Given the description of an element on the screen output the (x, y) to click on. 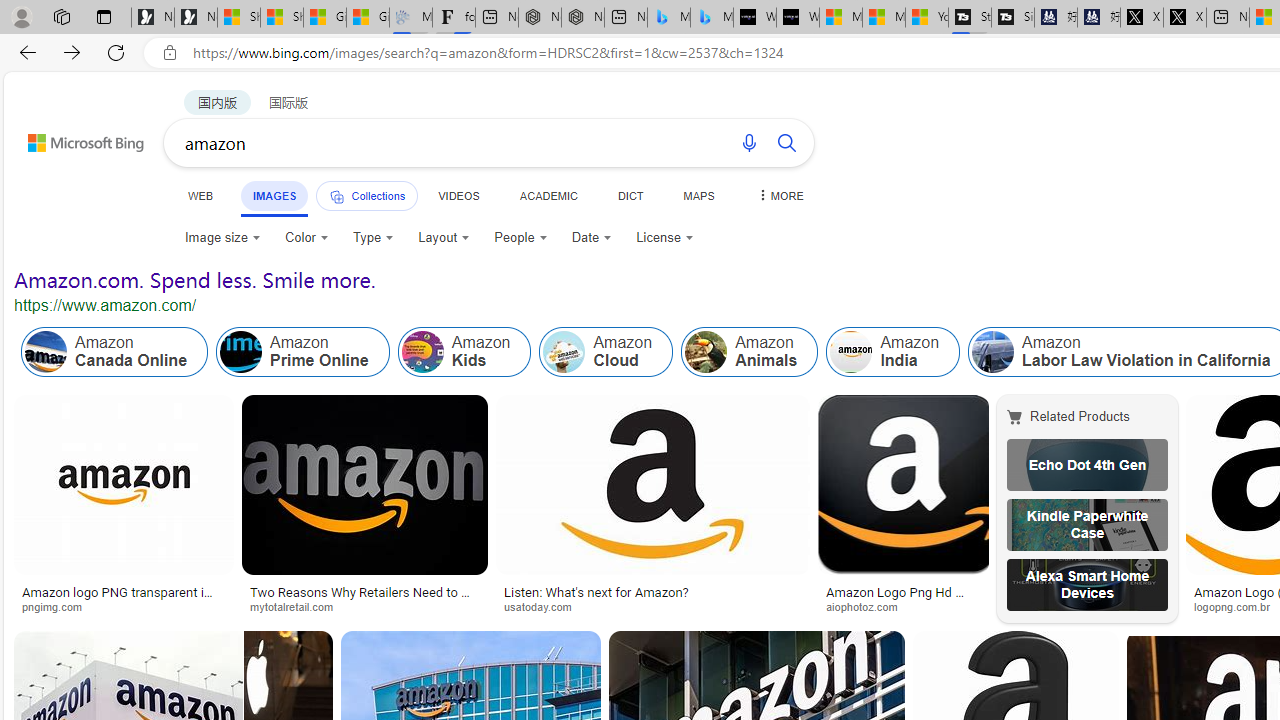
WEB (201, 195)
Amazon Kids (464, 351)
IMAGES (274, 196)
Layout (443, 237)
mytotalretail.com (364, 606)
Streaming Coverage | T3 (969, 17)
aiophotoz.com (868, 605)
pngimg.com (123, 606)
Image result for amazon (288, 675)
Microsoft Start Sports (840, 17)
